Given the description of an element on the screen output the (x, y) to click on. 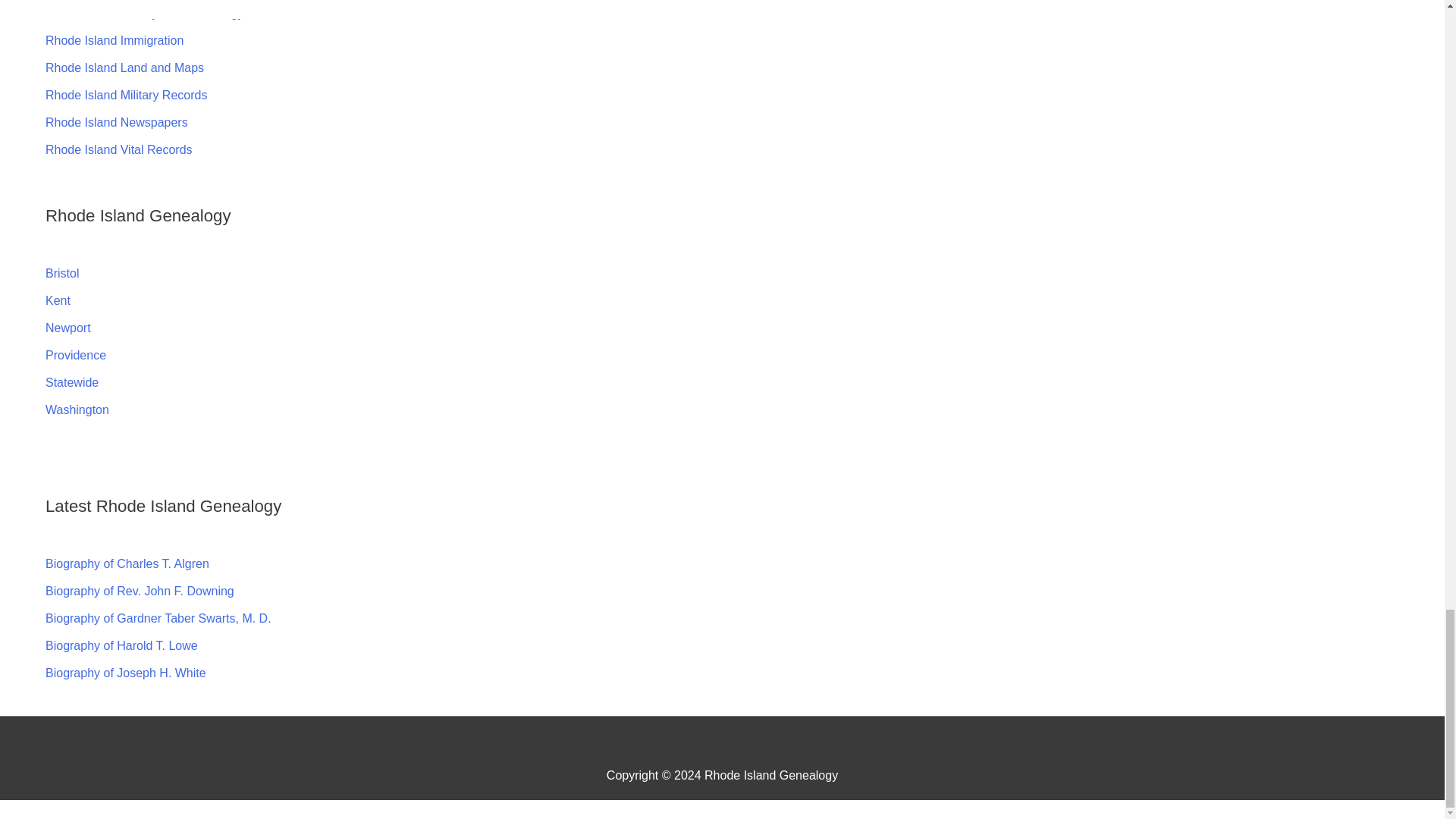
Washington (77, 409)
Biography of Gardner Taber Swarts, M. D. (157, 617)
Biography of Rev. John F. Downing (139, 590)
Newport (67, 327)
Kent (57, 300)
Statewide (72, 382)
Rhode Island Newspapers (116, 122)
Rhode Island History and Genealogy Societies (171, 12)
Rhode Island Vital Records (118, 149)
Rhode Island Land and Maps (124, 67)
